Given the description of an element on the screen output the (x, y) to click on. 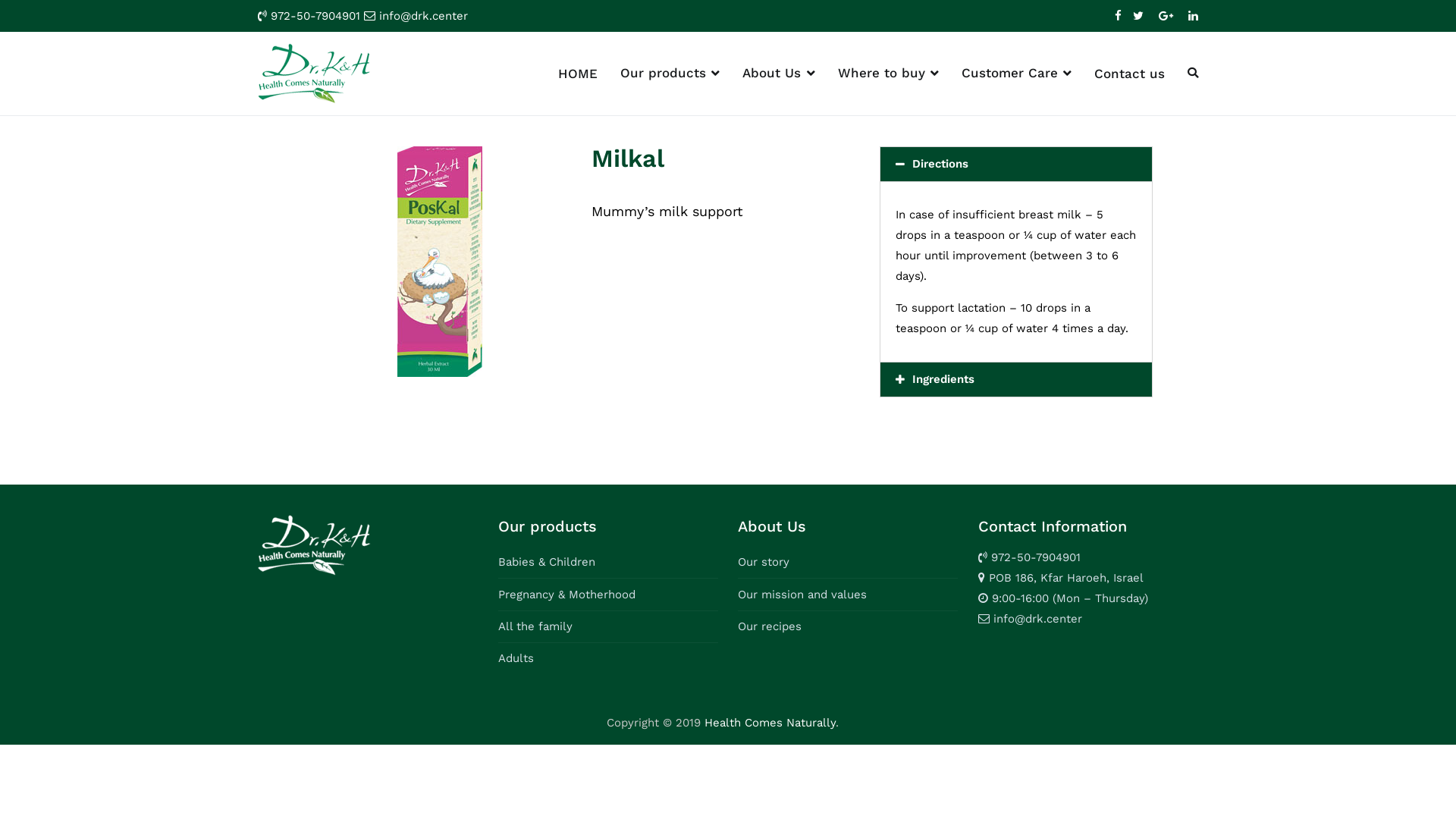
Our mission and values Element type: text (801, 594)
972-50-7904901 Element type: text (1035, 557)
Where to buy Element type: text (887, 73)
Our products Element type: text (669, 73)
Customer Care Element type: text (1016, 73)
Health Comes Naturally Element type: text (474, 83)
info@drk.center Element type: text (423, 15)
Adults Element type: text (515, 658)
HOME Element type: text (577, 73)
Pregnancy & Motherhood Element type: text (566, 594)
Babies & Children Element type: text (546, 561)
972-50-7904901 Element type: text (315, 15)
All the family Element type: text (535, 626)
Directions Element type: text (940, 163)
info@drk.center Element type: text (1037, 618)
Health Comes Naturally Element type: text (768, 722)
POB 186, Kfar Haroeh, Israel Element type: text (1064, 577)
Contact us Element type: text (1129, 73)
Ingredients Element type: text (943, 378)
Our story Element type: text (763, 561)
Our recipes Element type: text (769, 626)
About Us Element type: text (778, 73)
